Given the description of an element on the screen output the (x, y) to click on. 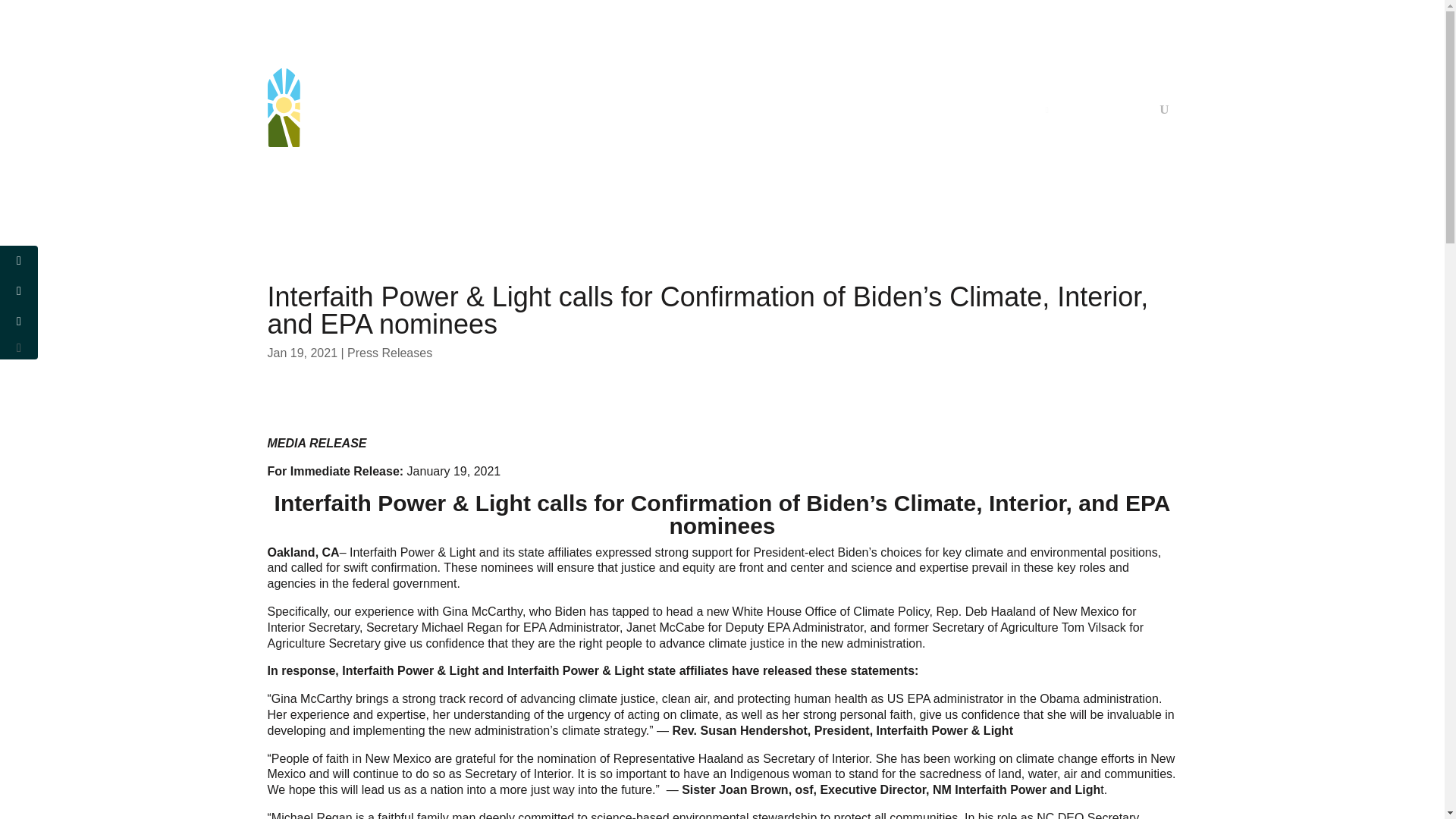
Follow on X (1073, 79)
Donate (1067, 112)
Follow on Instagram (1134, 79)
Follow on Facebook (1042, 79)
Press Releases (389, 352)
Follow on LinkedIn (1164, 79)
Contact (1124, 112)
Follow on Youtube (1104, 79)
Get Involved (663, 107)
